Given the description of an element on the screen output the (x, y) to click on. 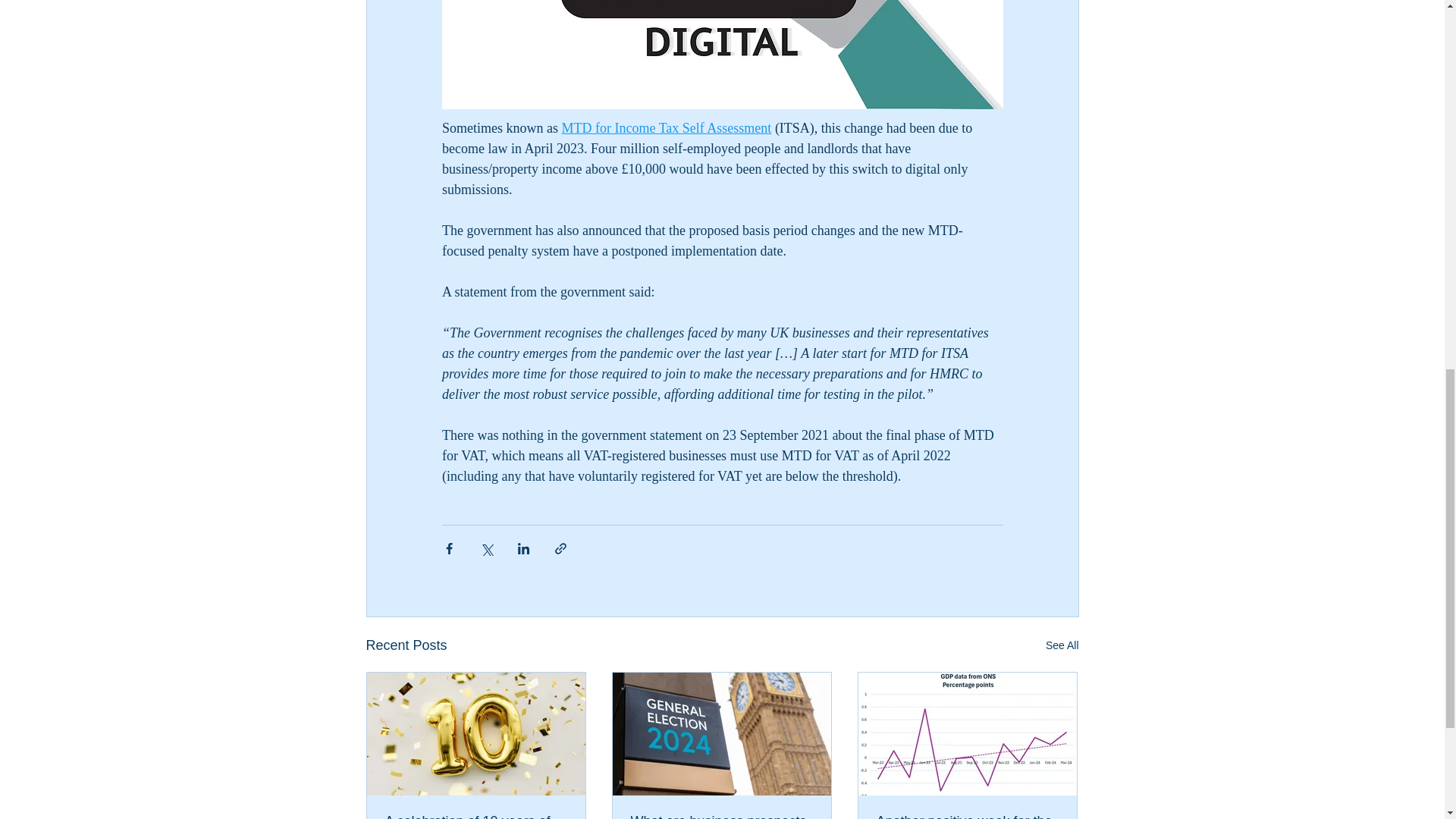
MTD for Income Tax Self Assessment (665, 127)
See All (1061, 645)
Another positive week for the economy. (967, 816)
